Given the description of an element on the screen output the (x, y) to click on. 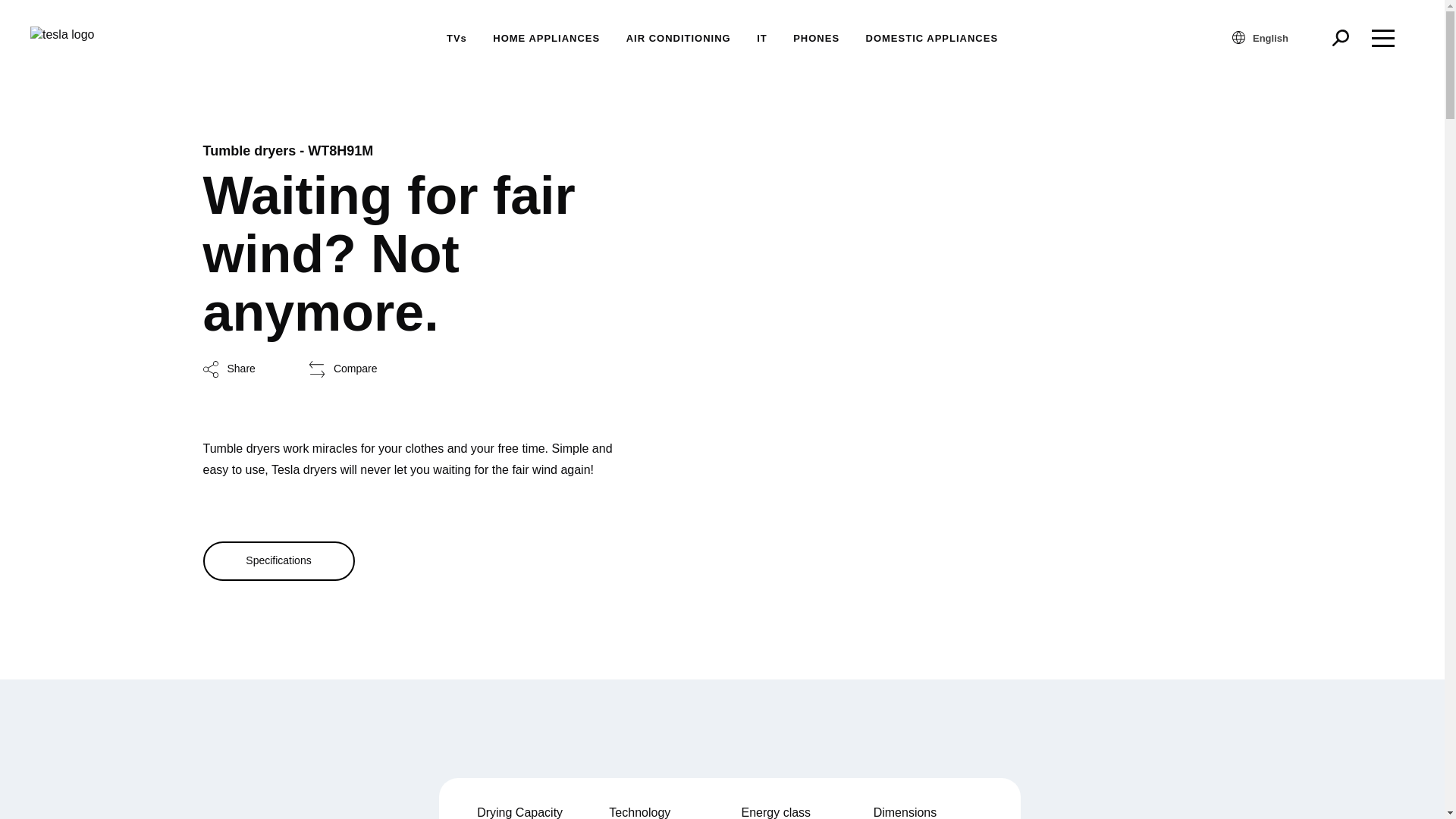
language (1237, 37)
PHONES (816, 38)
Share (229, 369)
HOME APPLIANCES (546, 38)
IT (762, 38)
DOMESTIC APPLIANCES (932, 38)
AIR CONDITIONING (678, 38)
English (1276, 37)
TVs (456, 38)
